Given the description of an element on the screen output the (x, y) to click on. 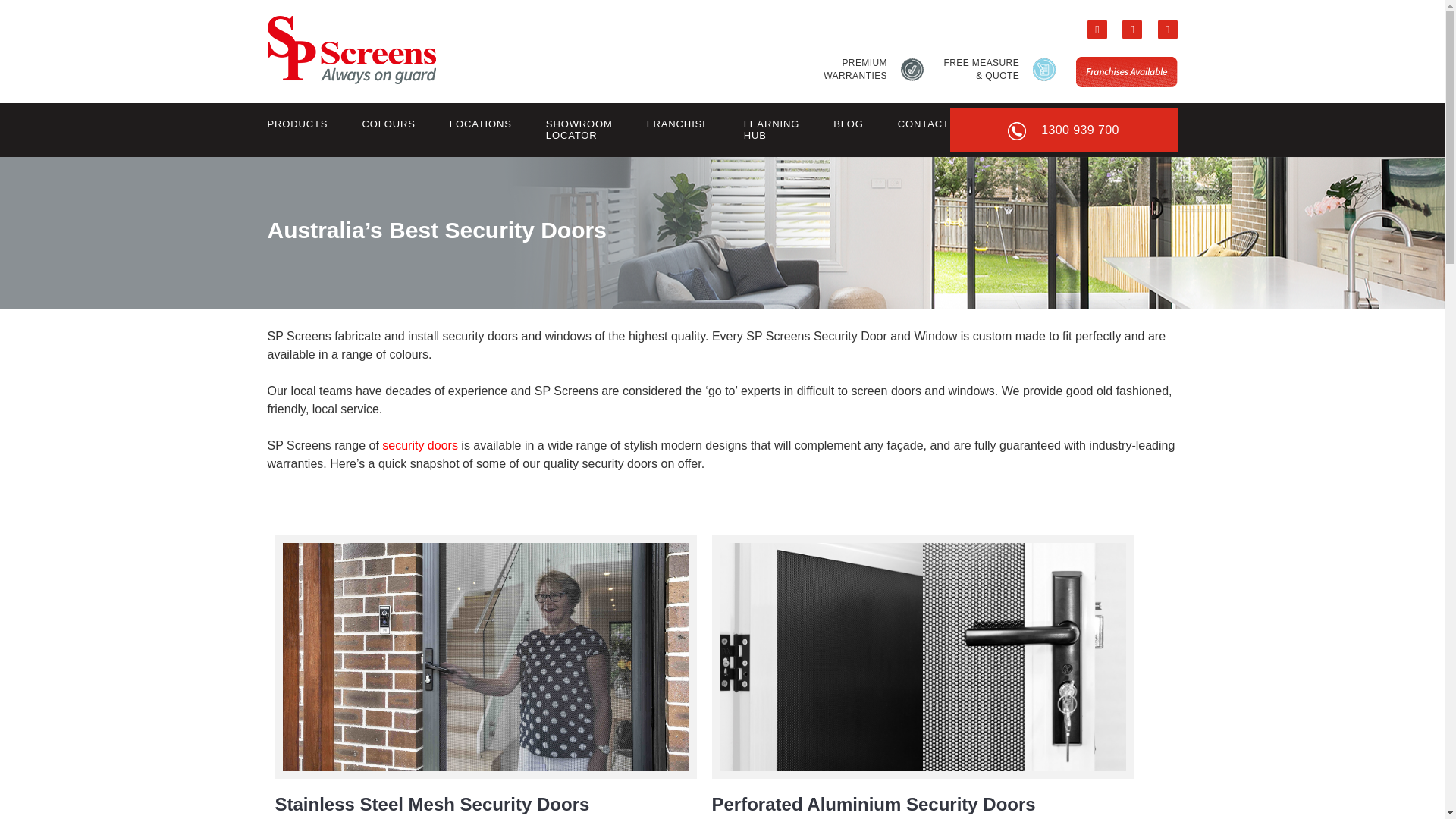
Locations (480, 123)
Colours (873, 69)
LOCATIONS (388, 123)
Contact (480, 123)
PRODUCTS (922, 123)
Products (298, 123)
COLOURS (298, 123)
News (388, 123)
